Given the description of an element on the screen output the (x, y) to click on. 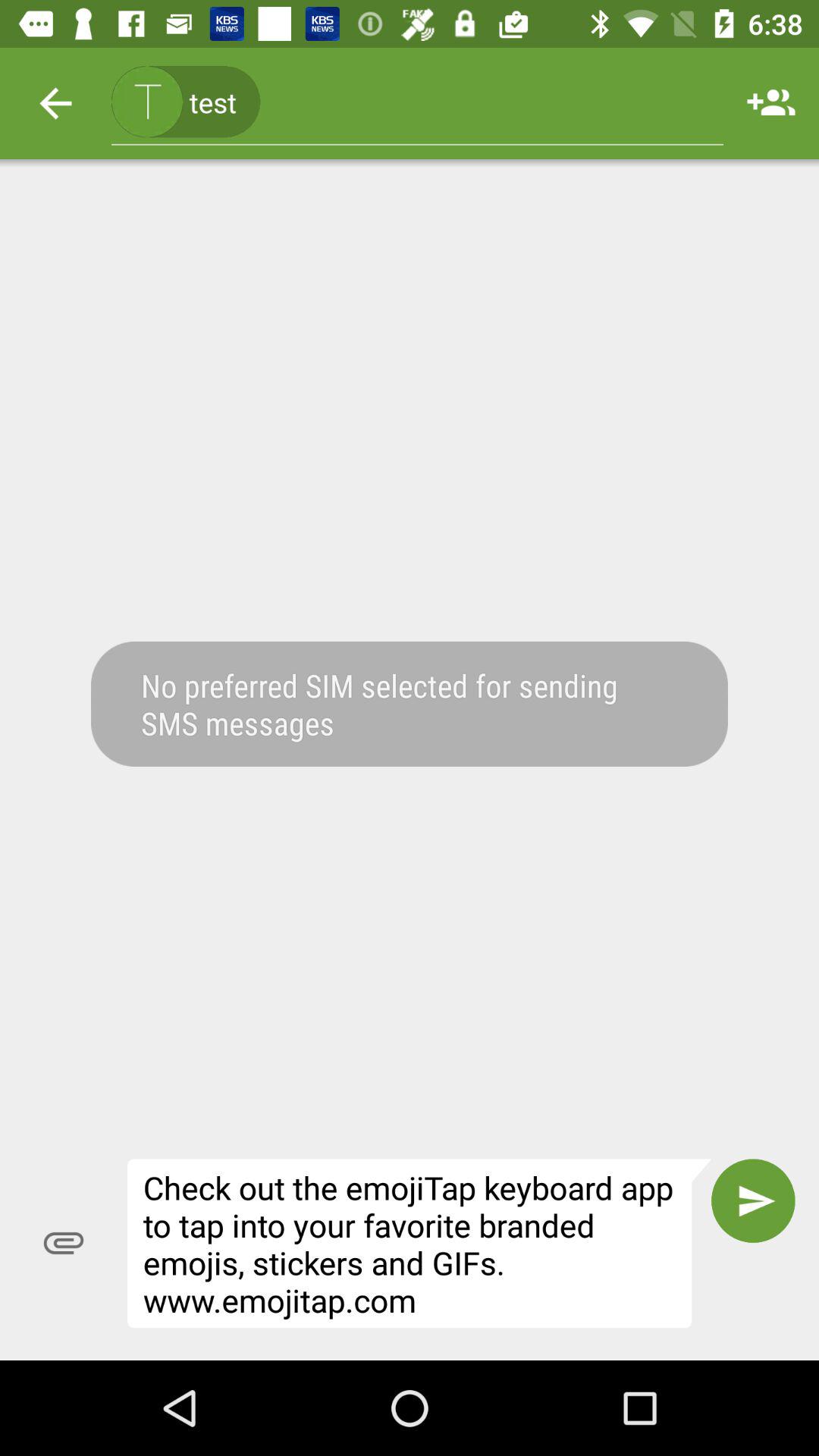
tap the check out the (419, 1243)
